Given the description of an element on the screen output the (x, y) to click on. 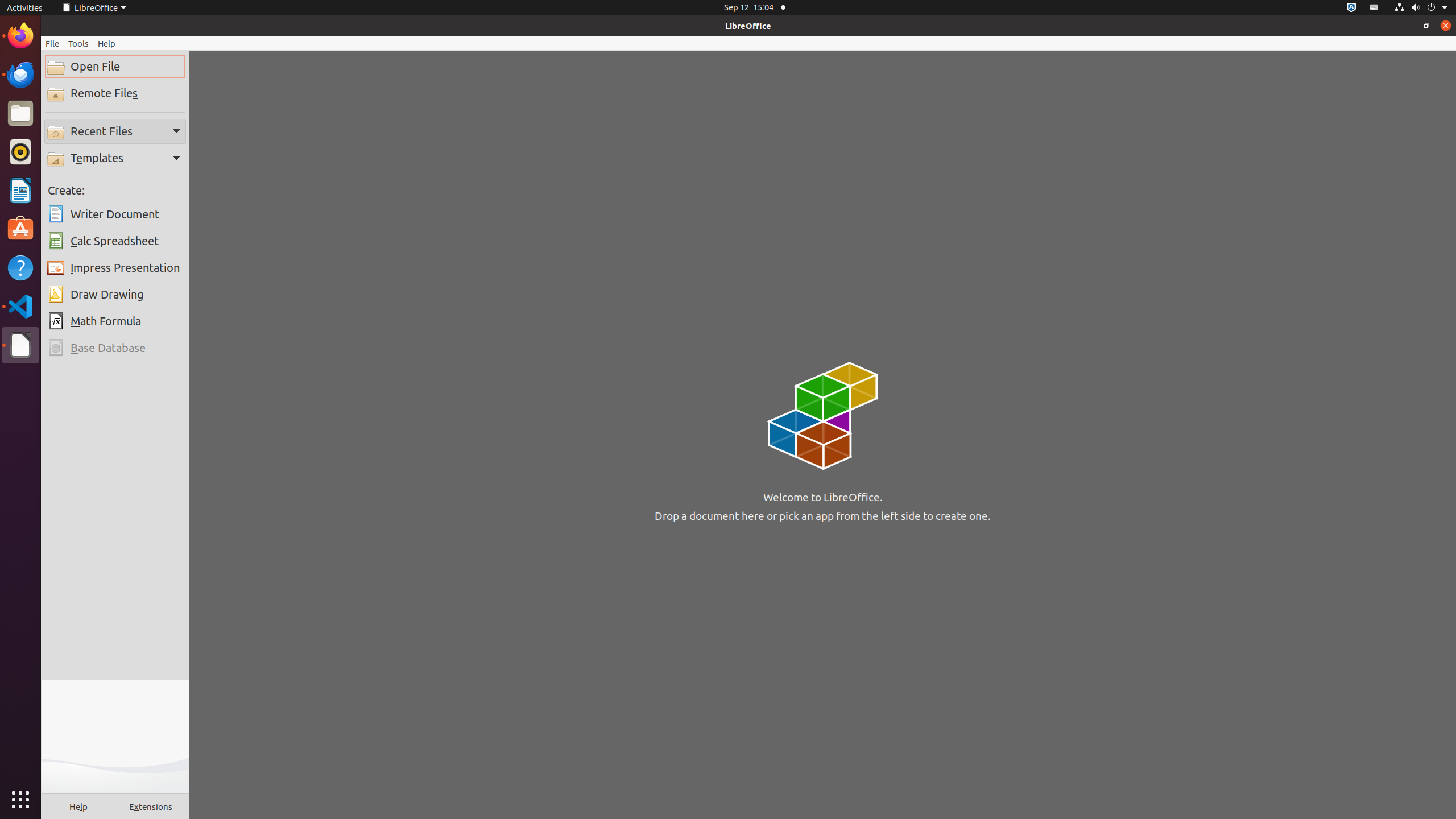
Extensions Element type: push-button (150, 806)
